Given the description of an element on the screen output the (x, y) to click on. 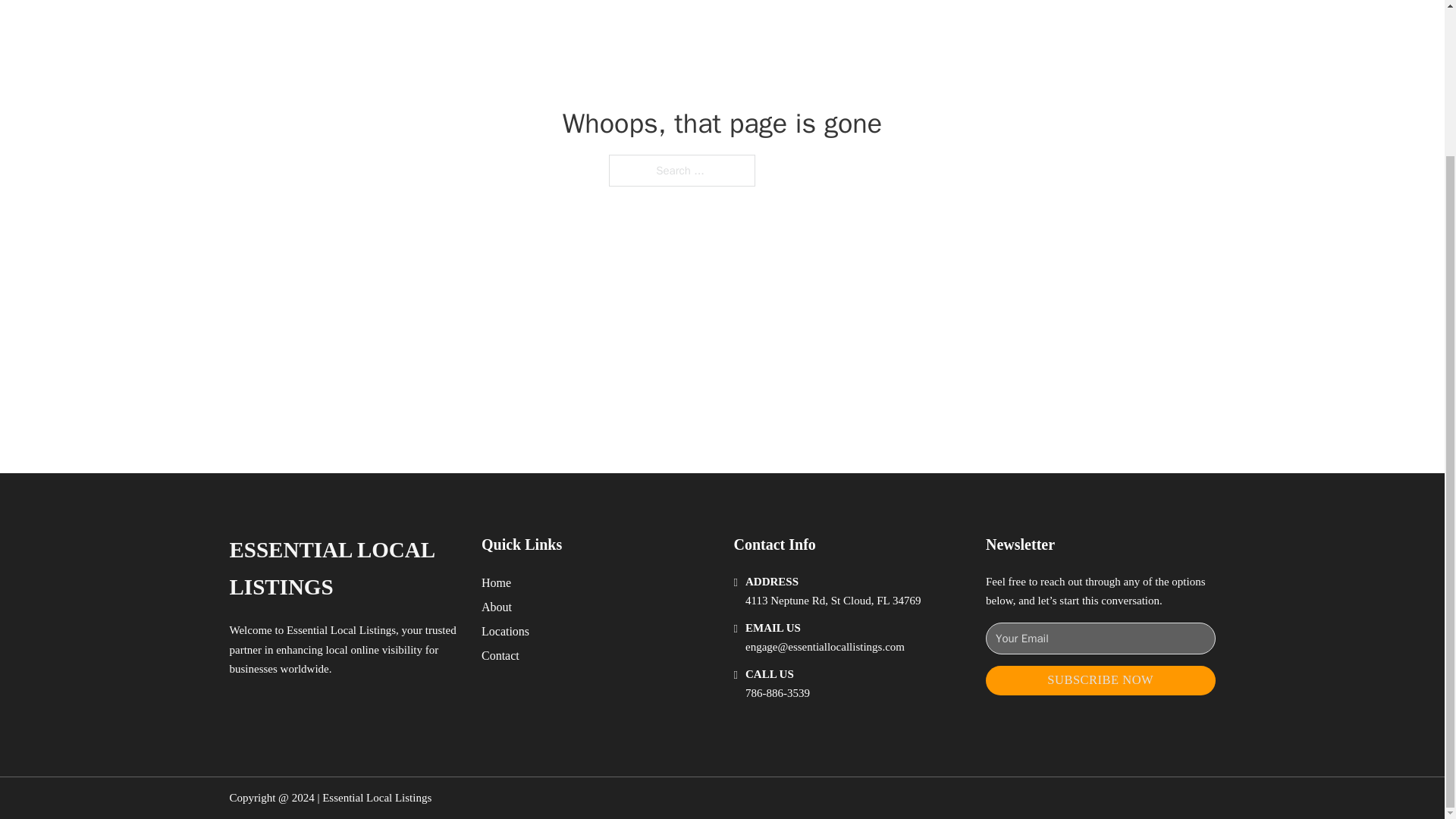
About (496, 607)
786-886-3539 (777, 693)
SUBSCRIBE NOW (1100, 680)
ESSENTIAL LOCAL LISTINGS (343, 568)
Contact (500, 655)
Home (496, 582)
Locations (505, 630)
